Given the description of an element on the screen output the (x, y) to click on. 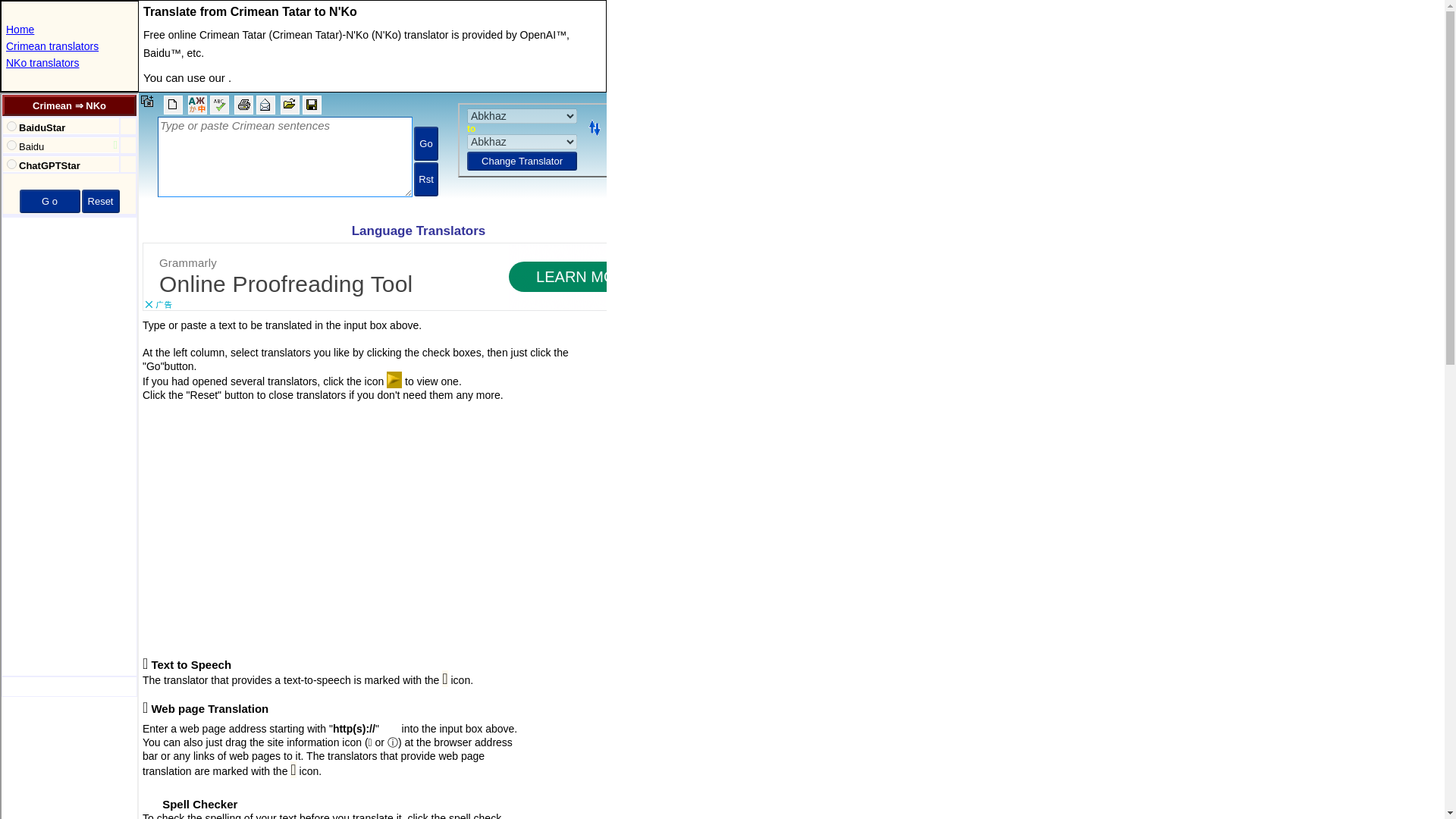
NKo translators (41, 62)
Home Page (19, 29)
Enter here a Crimean Tatar text to translate (372, 152)
Online Crimean translators (52, 46)
Home (19, 29)
Crimean translators (52, 46)
Online NKo translators (41, 62)
